Given the description of an element on the screen output the (x, y) to click on. 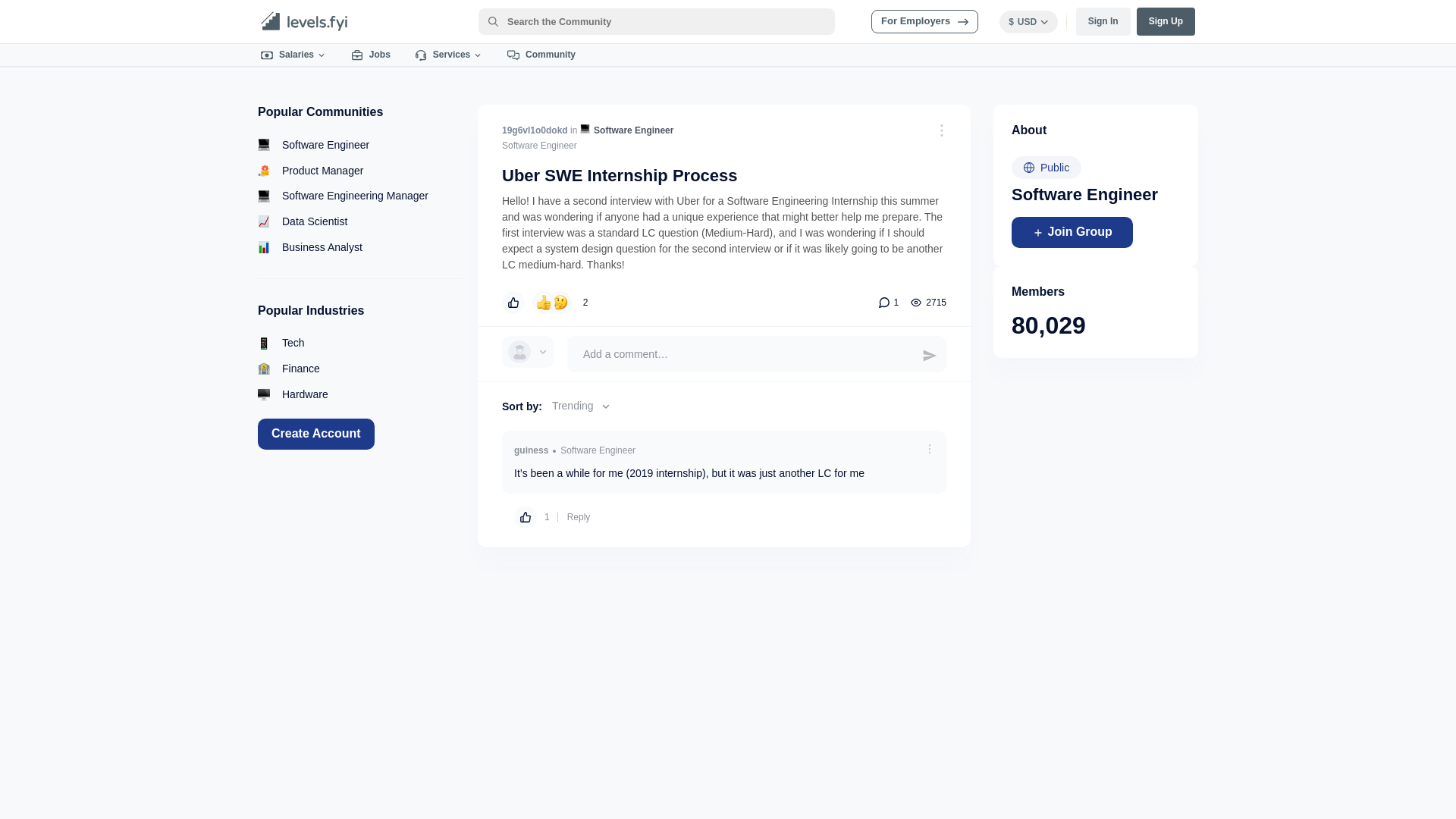
Jobs (371, 55)
For Employers (924, 21)
Sign In (1103, 21)
Sign Up (1166, 21)
Services (449, 55)
Salaries (293, 55)
